Given the description of an element on the screen output the (x, y) to click on. 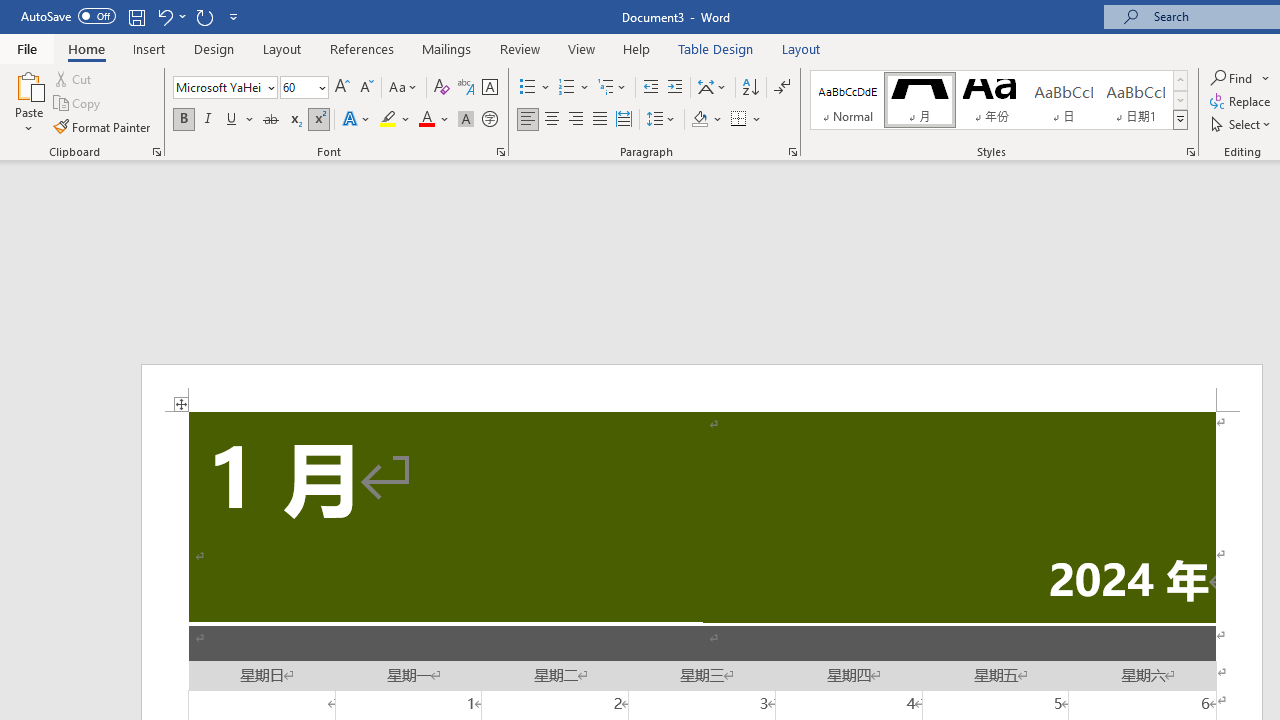
Grow Font (342, 87)
Home (86, 48)
Open (320, 87)
Quick Access Toolbar (131, 16)
Decrease Indent (650, 87)
Multilevel List (613, 87)
File Tab (26, 48)
Replace... (1242, 101)
Sort... (750, 87)
AutomationID: QuickStylesGallery (999, 99)
Distributed (623, 119)
Underline (239, 119)
Phonetic Guide... (465, 87)
Help (637, 48)
Subscript (294, 119)
